Given the description of an element on the screen output the (x, y) to click on. 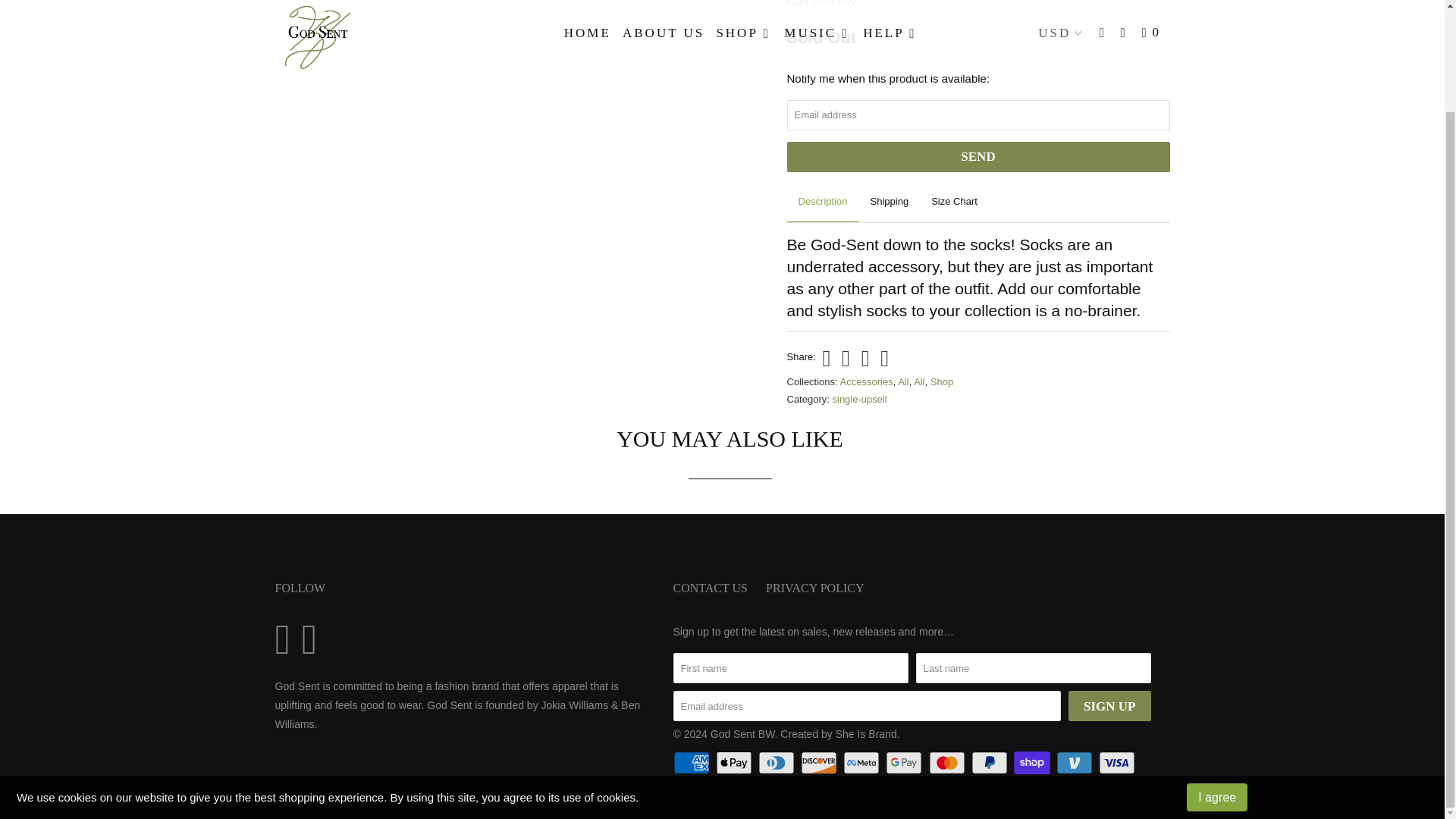
Google Pay (904, 762)
God Sent BW (822, 3)
PayPal (990, 762)
Sign Up (1109, 706)
American Express (692, 762)
Diners Club (777, 762)
Shop Pay (1032, 762)
Mastercard (948, 762)
Visa (1118, 762)
Apple Pay (735, 762)
